Given the description of an element on the screen output the (x, y) to click on. 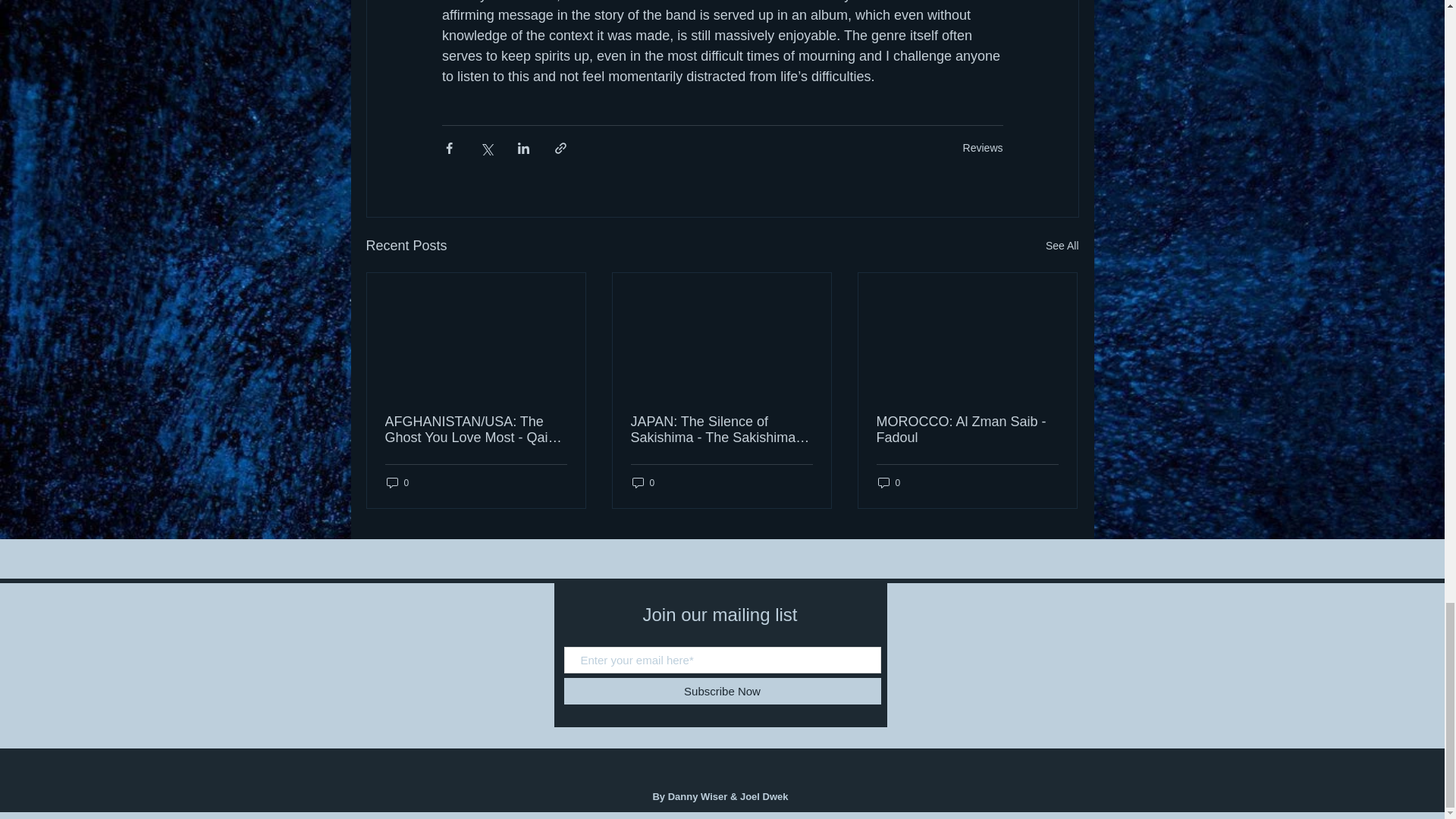
0 (643, 482)
JAPAN: The Silence of Sakishima - The Sakishima Meeting (721, 429)
Reviews (982, 147)
0 (397, 482)
See All (1061, 246)
